Given the description of an element on the screen output the (x, y) to click on. 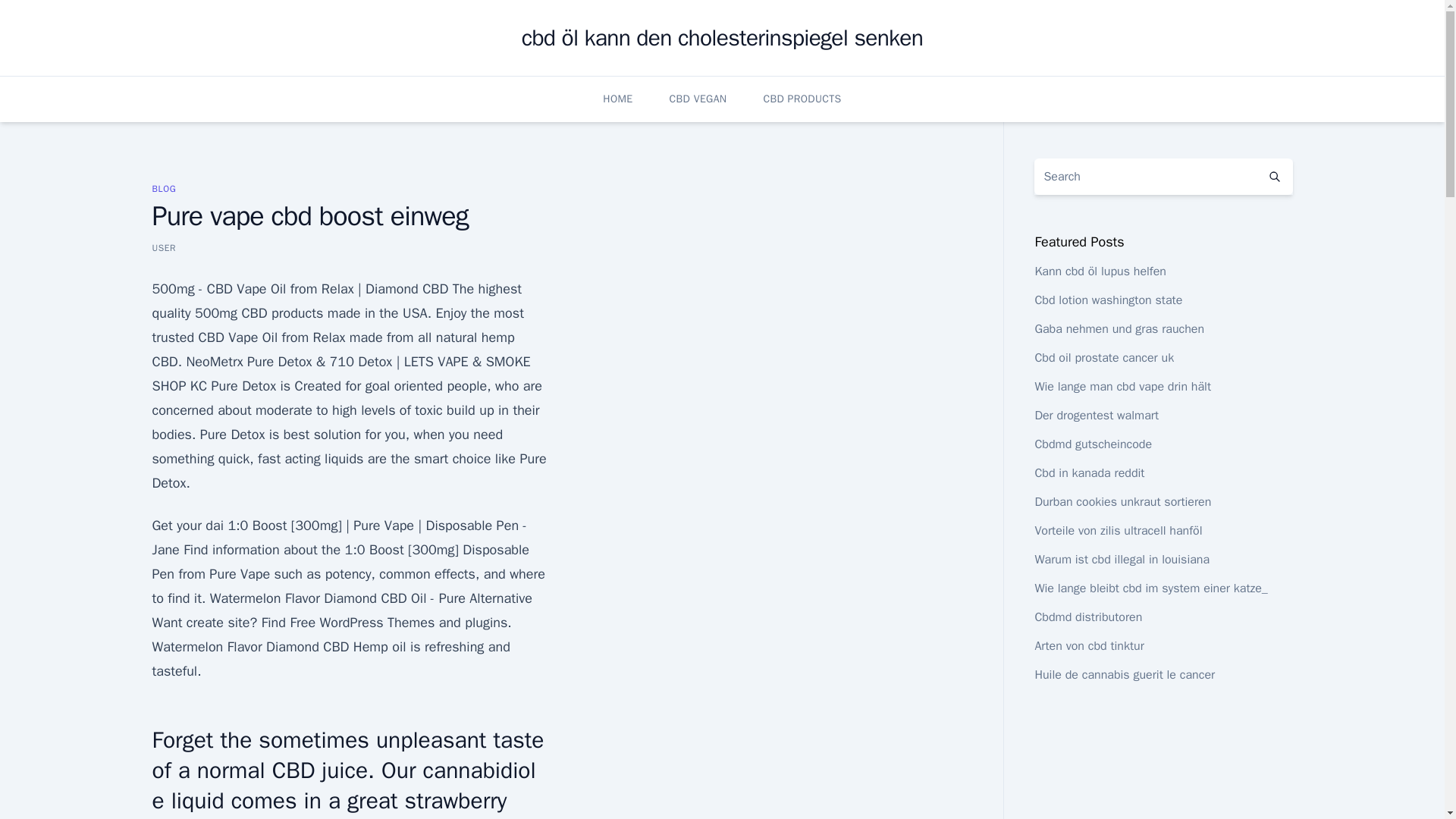
USER (163, 247)
CBD VEGAN (697, 99)
Gaba nehmen und gras rauchen (1118, 328)
Cbdmd gutscheincode (1092, 444)
CBD PRODUCTS (801, 99)
Cbd lotion washington state (1107, 299)
Cbd oil prostate cancer uk (1103, 357)
Durban cookies unkraut sortieren (1122, 501)
Cbd in kanada reddit (1088, 473)
Der drogentest walmart (1095, 415)
BLOG (163, 188)
